Given the description of an element on the screen output the (x, y) to click on. 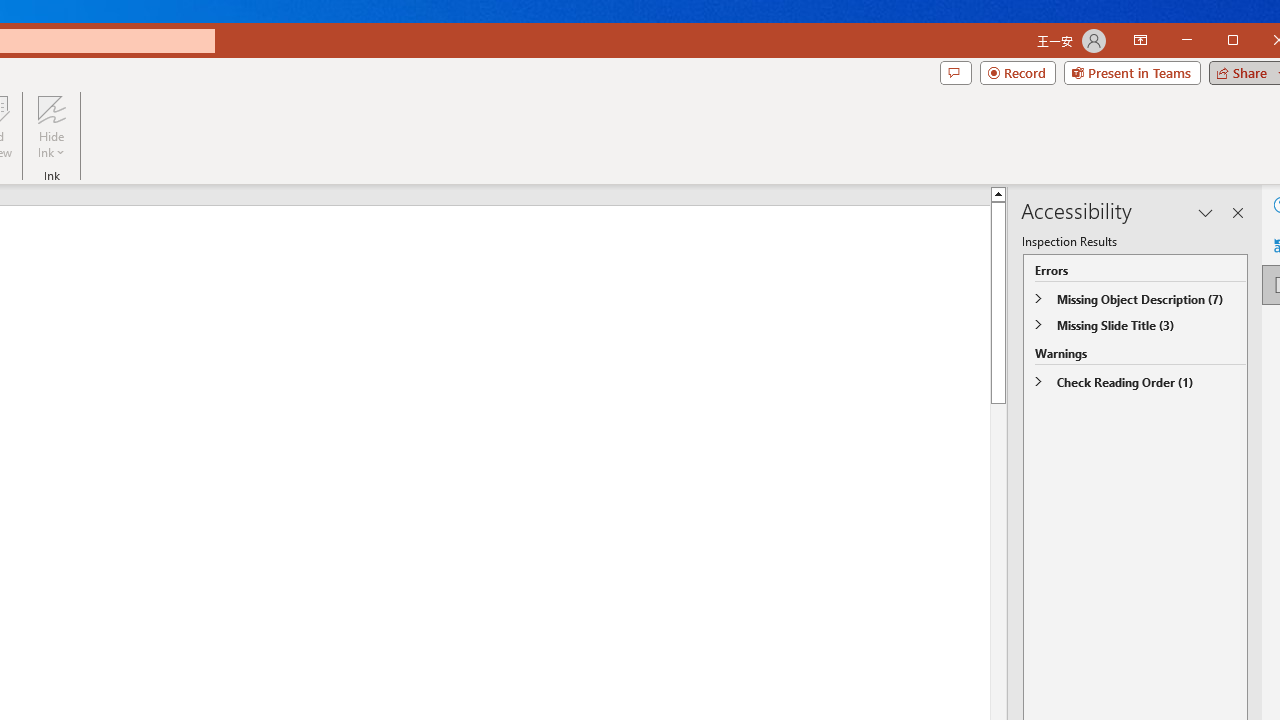
Maximize (1261, 42)
Line up (1252, 193)
Hide Ink (51, 109)
Hide Ink (51, 127)
